Given the description of an element on the screen output the (x, y) to click on. 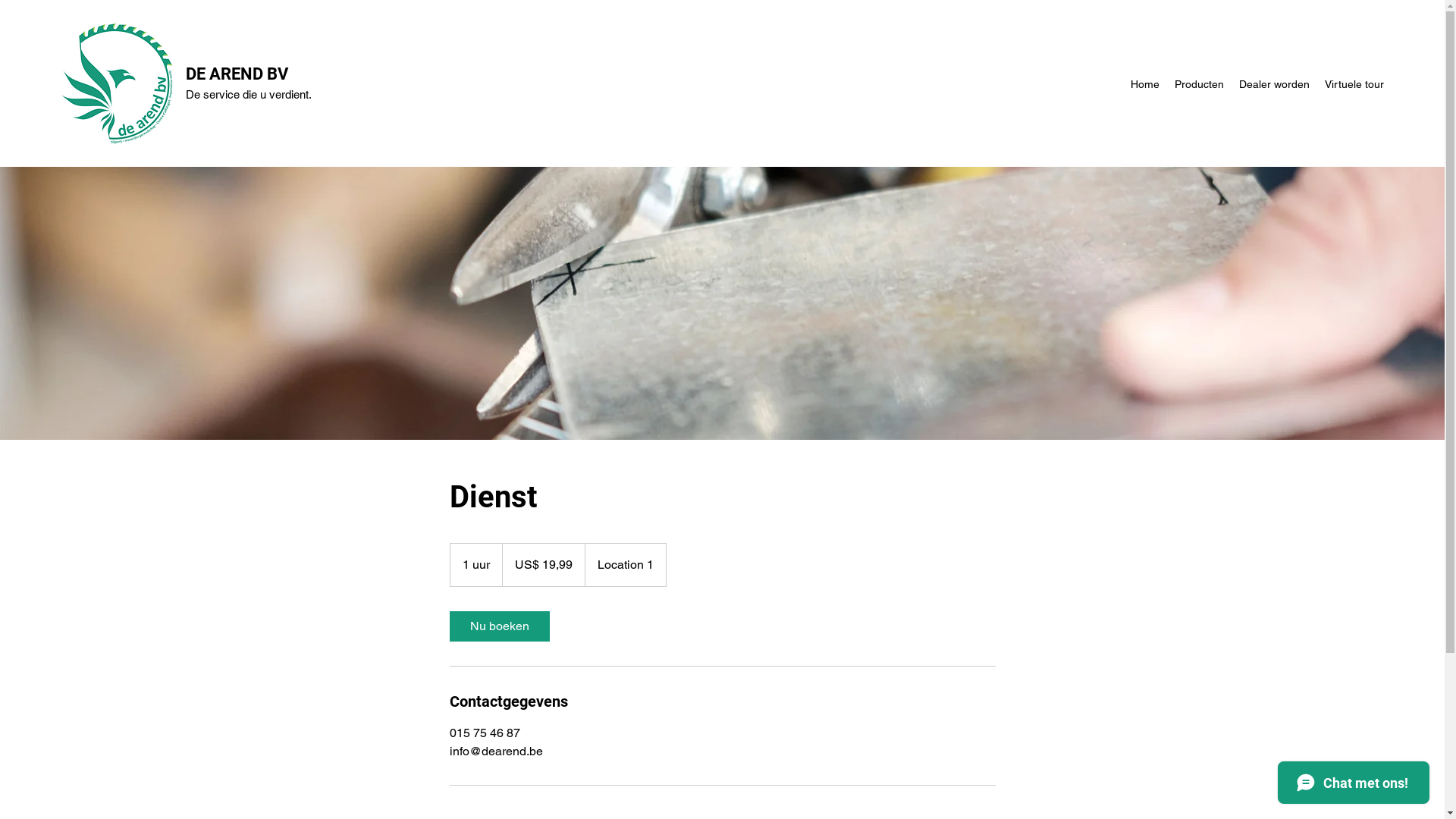
Nu boeken Element type: text (498, 626)
Producten Element type: text (1199, 83)
Dealer worden Element type: text (1274, 83)
Home Element type: text (1145, 83)
Virtuele tour Element type: text (1354, 83)
